Given the description of an element on the screen output the (x, y) to click on. 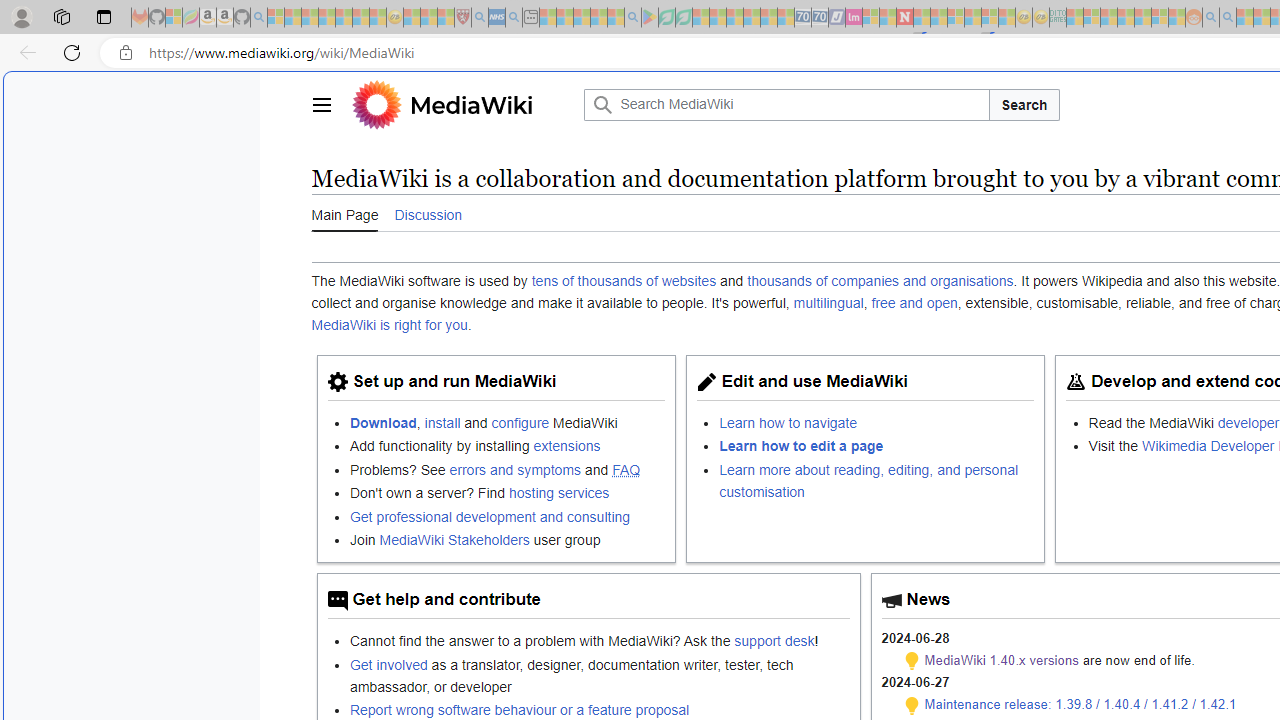
Discussion (428, 213)
MediaWiki (471, 104)
Maintenance release: 1.39.8 / 1.40.4 / 1.41.2 / 1.42.1 (1080, 704)
Get professional development and consulting (490, 516)
extensions (566, 446)
Maintenance update (911, 705)
